Given the description of an element on the screen output the (x, y) to click on. 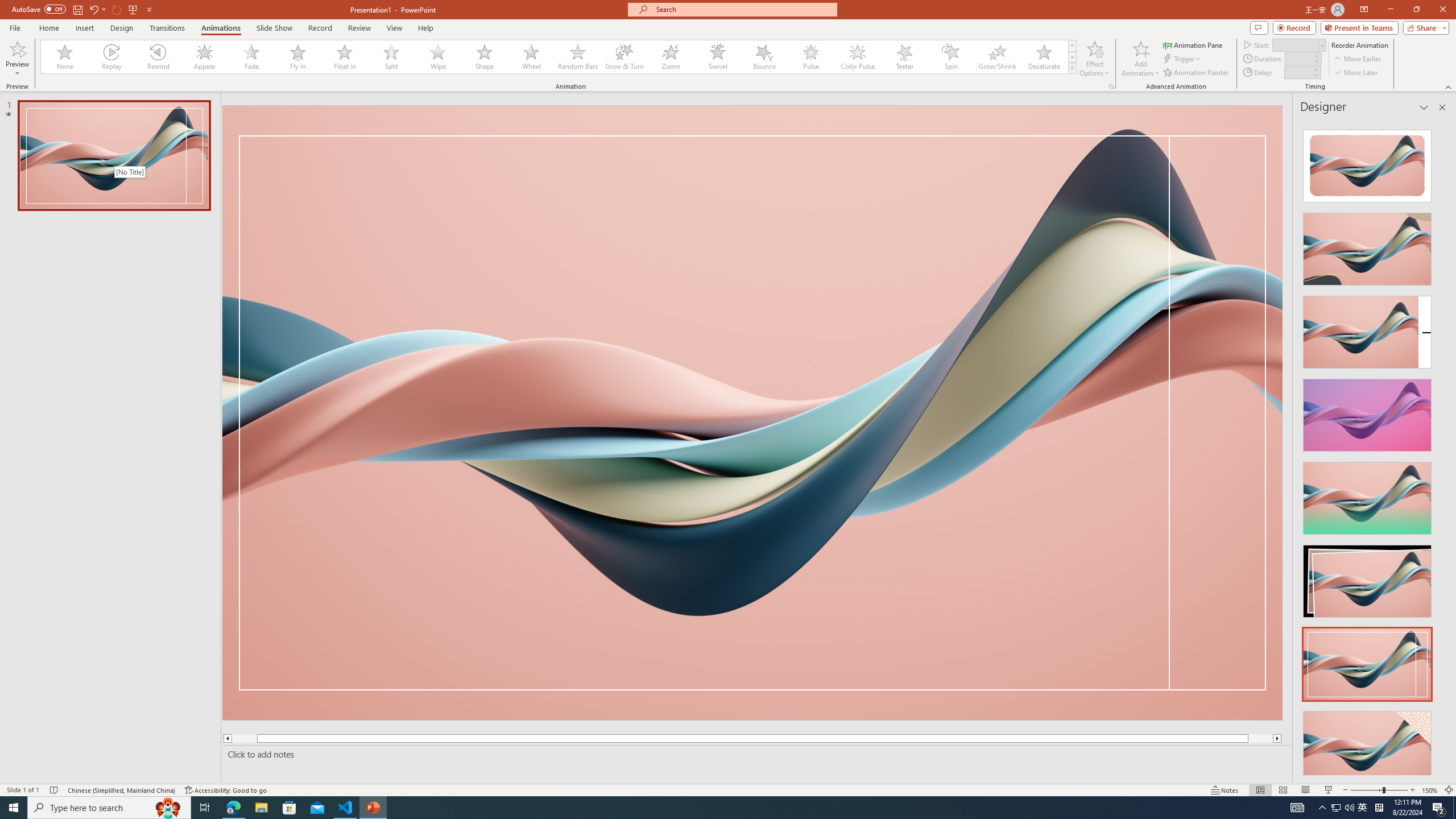
Shape (484, 56)
More Options... (1110, 85)
Zoom 150% (1430, 790)
Animation Styles (1071, 67)
Desaturate (1043, 56)
Class: NetUIScrollBar (1441, 447)
